Given the description of an element on the screen output the (x, y) to click on. 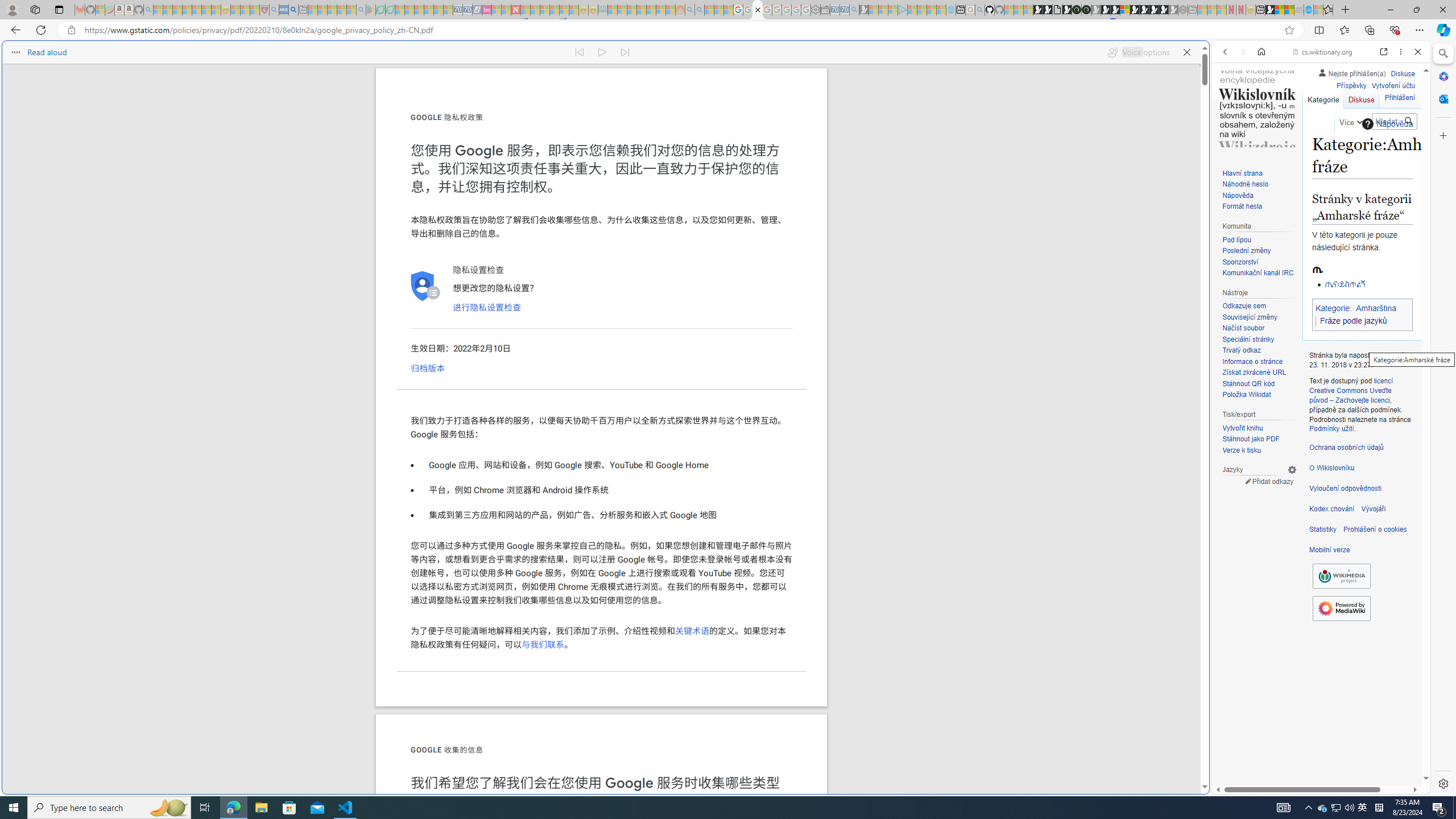
WEB   (1230, 130)
IMAGES (1262, 130)
Expert Portfolios - Sleeping (640, 9)
Powered by MediaWiki (1341, 608)
Read previous paragraph (579, 52)
